Given the description of an element on the screen output the (x, y) to click on. 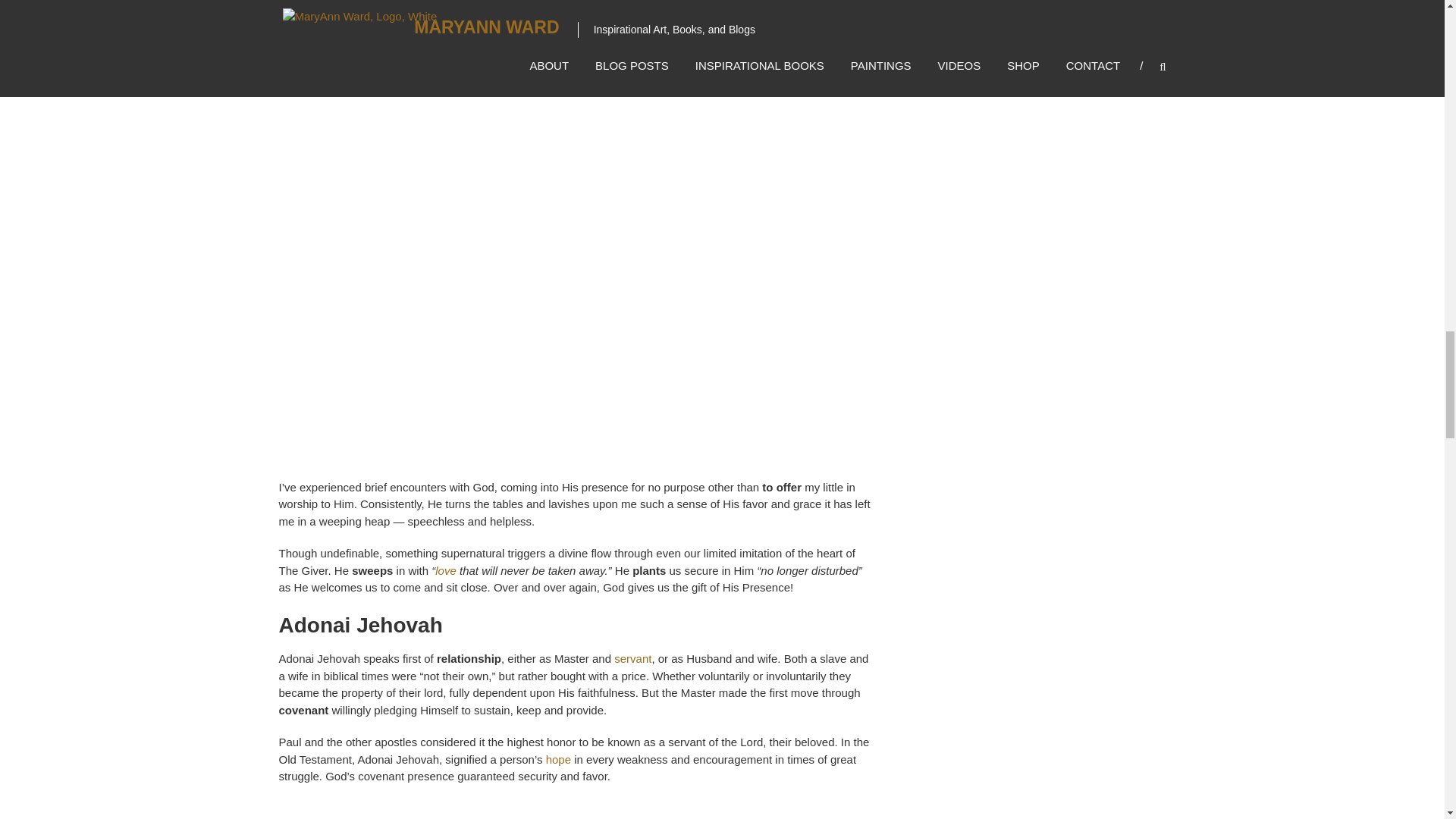
2 Samuel 7:18 (575, 10)
hope (558, 758)
love (446, 570)
servant (630, 658)
